Given the description of an element on the screen output the (x, y) to click on. 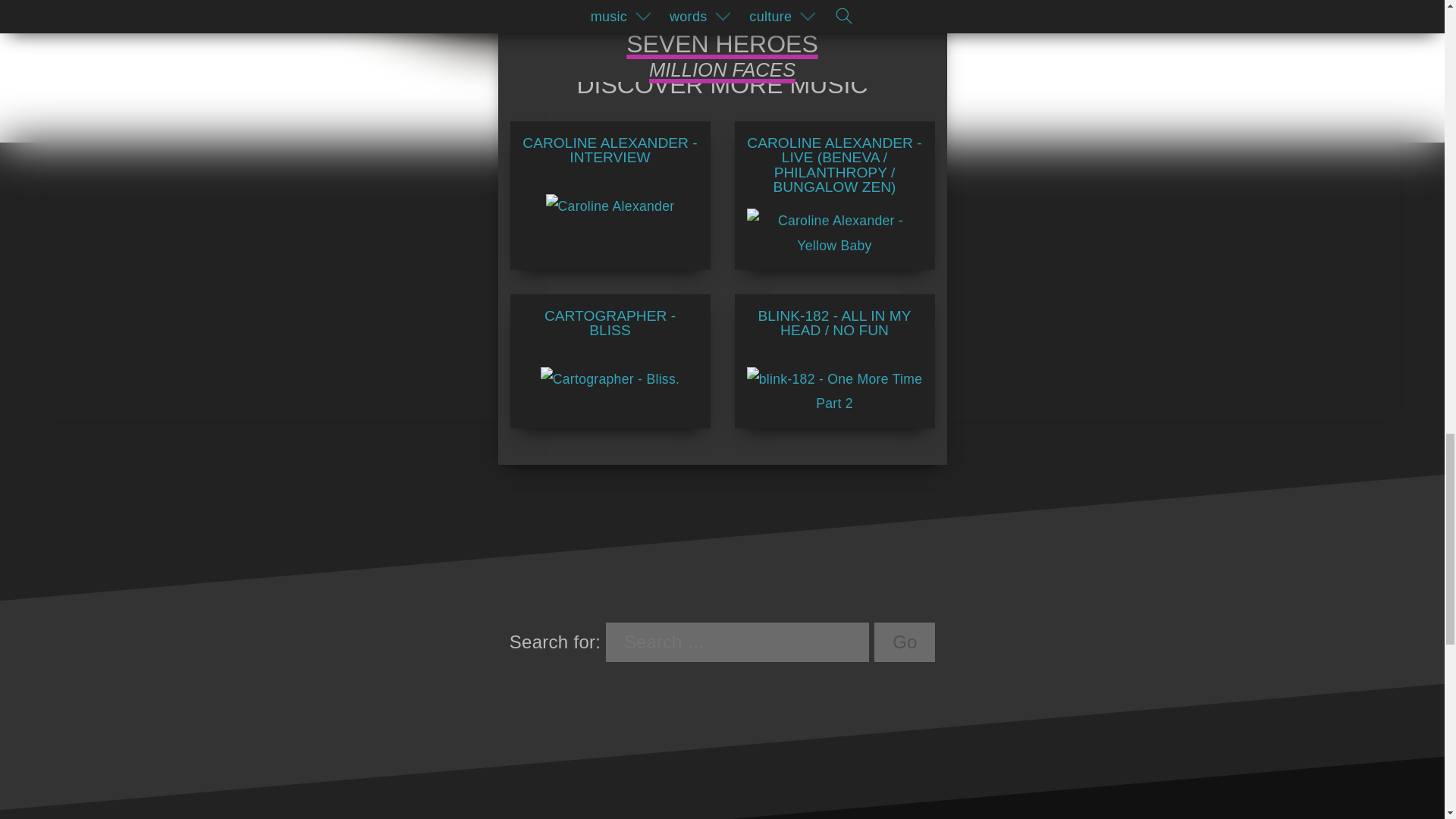
CARTOGRAPHER - BLISS (609, 349)
CAROLINE ALEXANDER - INTERVIEW (609, 176)
Go (904, 641)
Go (904, 641)
